Given the description of an element on the screen output the (x, y) to click on. 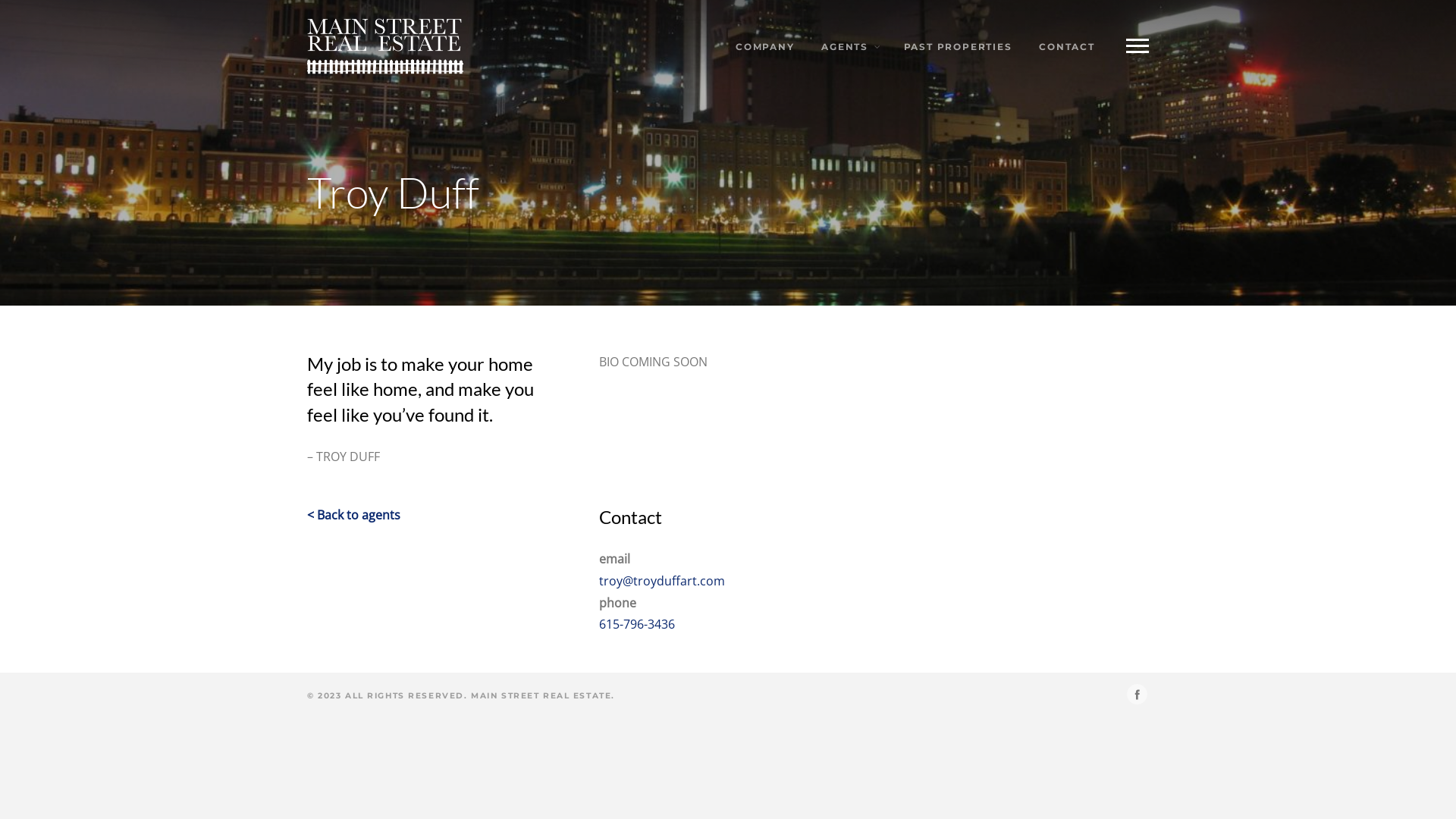
PAST PROPERTIES Element type: text (957, 46)
AGENTS Element type: text (847, 46)
Menu Element type: text (1137, 46)
troy@troyduffart.com Element type: text (661, 580)
< Back to agents Element type: text (353, 514)
COMPANY Element type: text (763, 46)
CONTACT Element type: text (1066, 46)
Follow Me on facebook Element type: hover (1136, 694)
615-796-3436 Element type: text (636, 623)
